Given the description of an element on the screen output the (x, y) to click on. 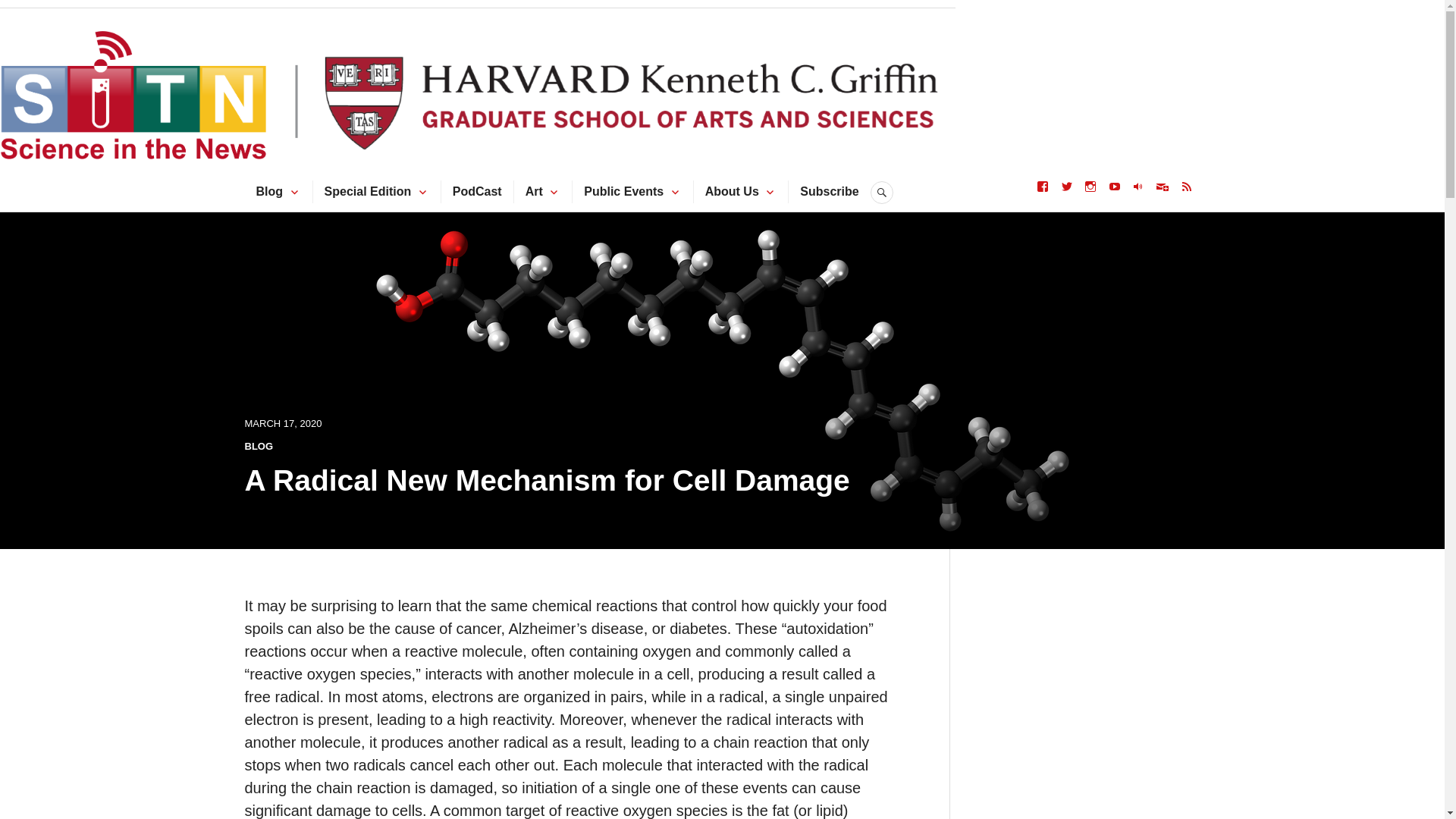
SITN Instagram Page (1090, 186)
Art (534, 191)
SITN Website RSS Feed (1185, 186)
SITN Mailing List (1162, 186)
Special Edition (368, 191)
SITN Lecture YouTube Channel (1114, 186)
PodCast (477, 191)
SITN Podcast SoundCloud Channel (1138, 186)
Blog (269, 191)
SITN Twitter Feed (1067, 186)
Science in the News (491, 29)
SITN Facebook Page (1042, 186)
